Given the description of an element on the screen output the (x, y) to click on. 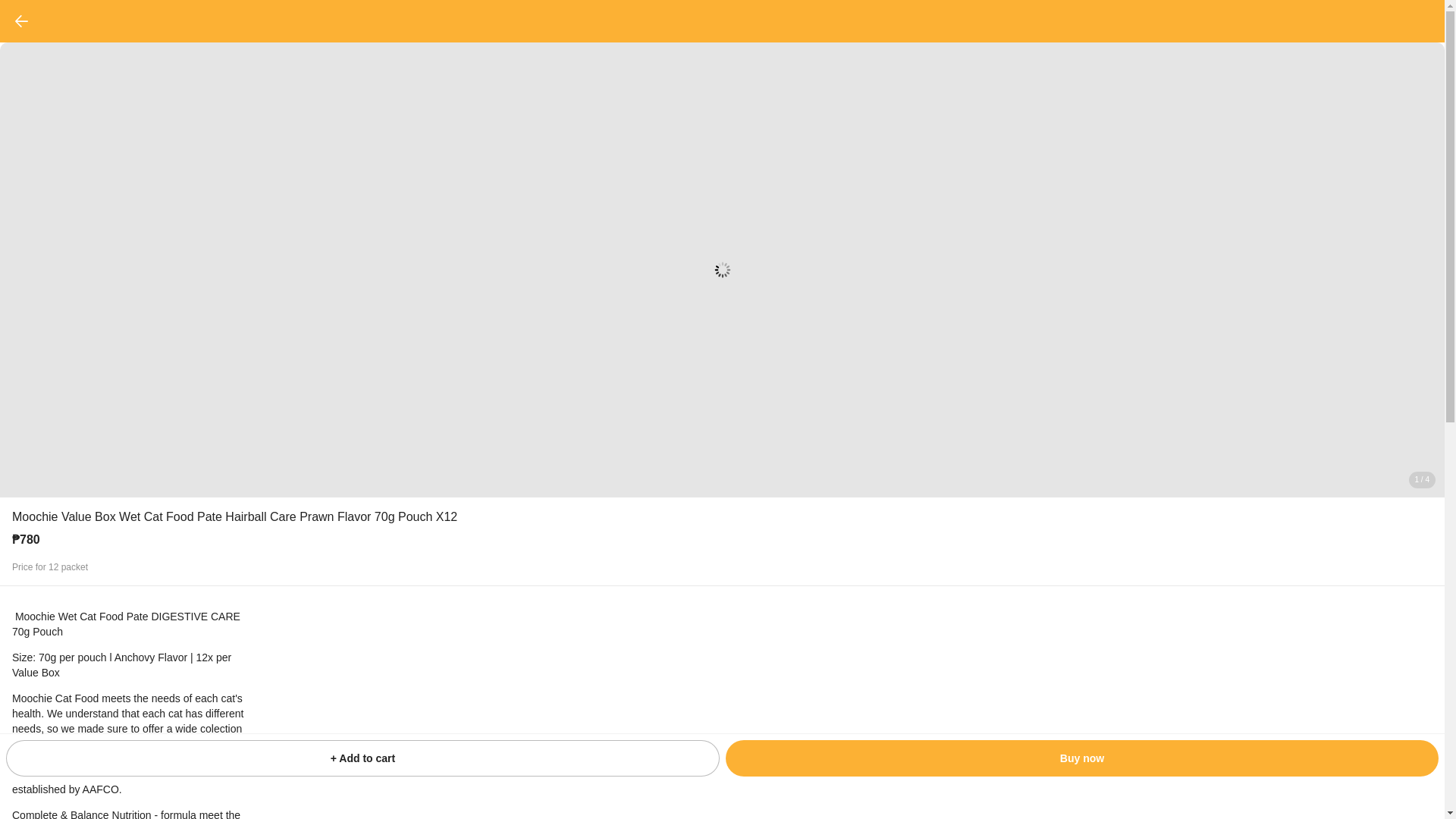
Buy now (1081, 758)
